Given the description of an element on the screen output the (x, y) to click on. 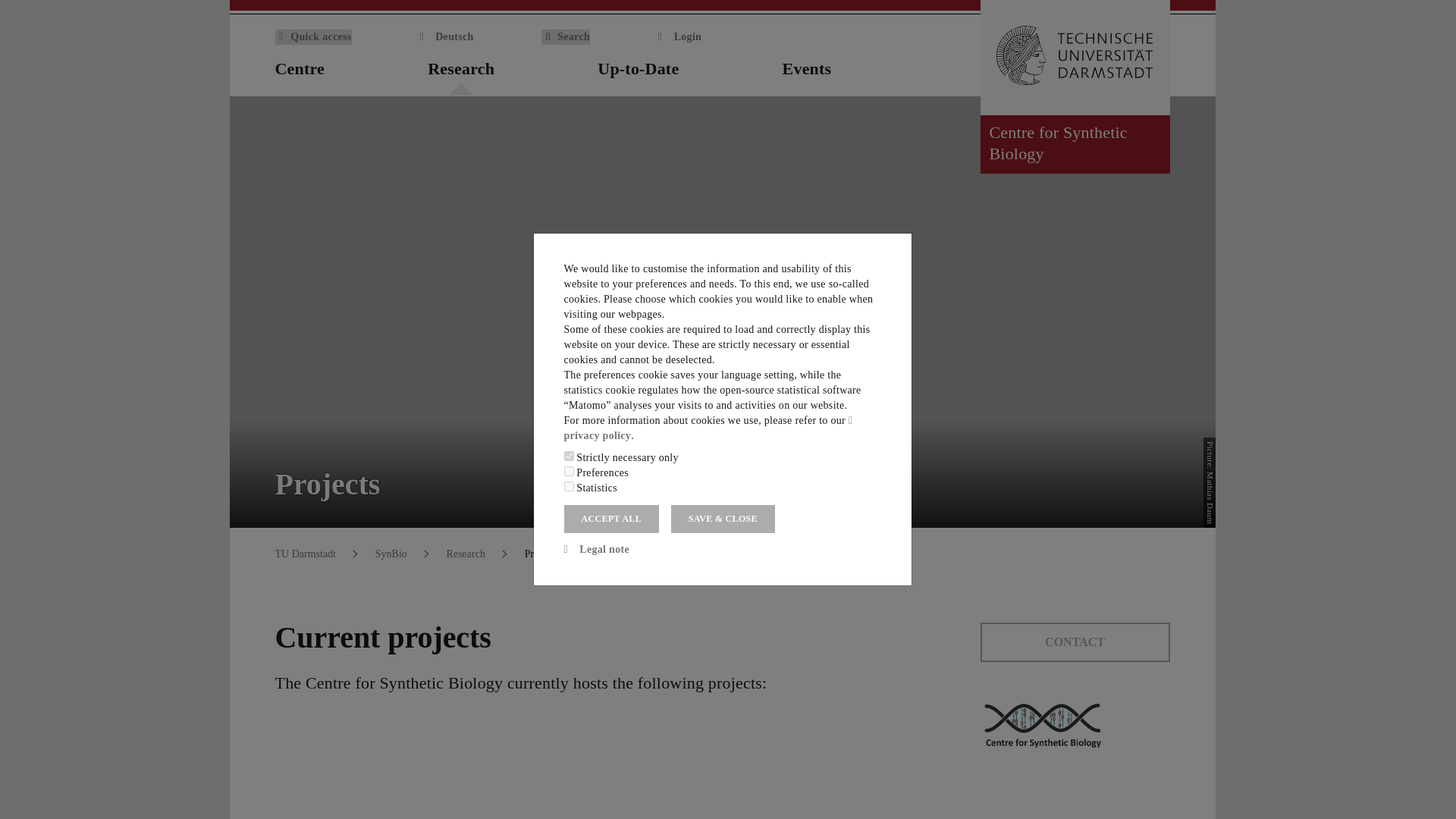
usability (568, 470)
Home of institution (1160, 69)
essential (568, 456)
Skip menu (13, 5)
Go to home of TU Darmstadt (1074, 57)
statistics (568, 486)
